Given the description of an element on the screen output the (x, y) to click on. 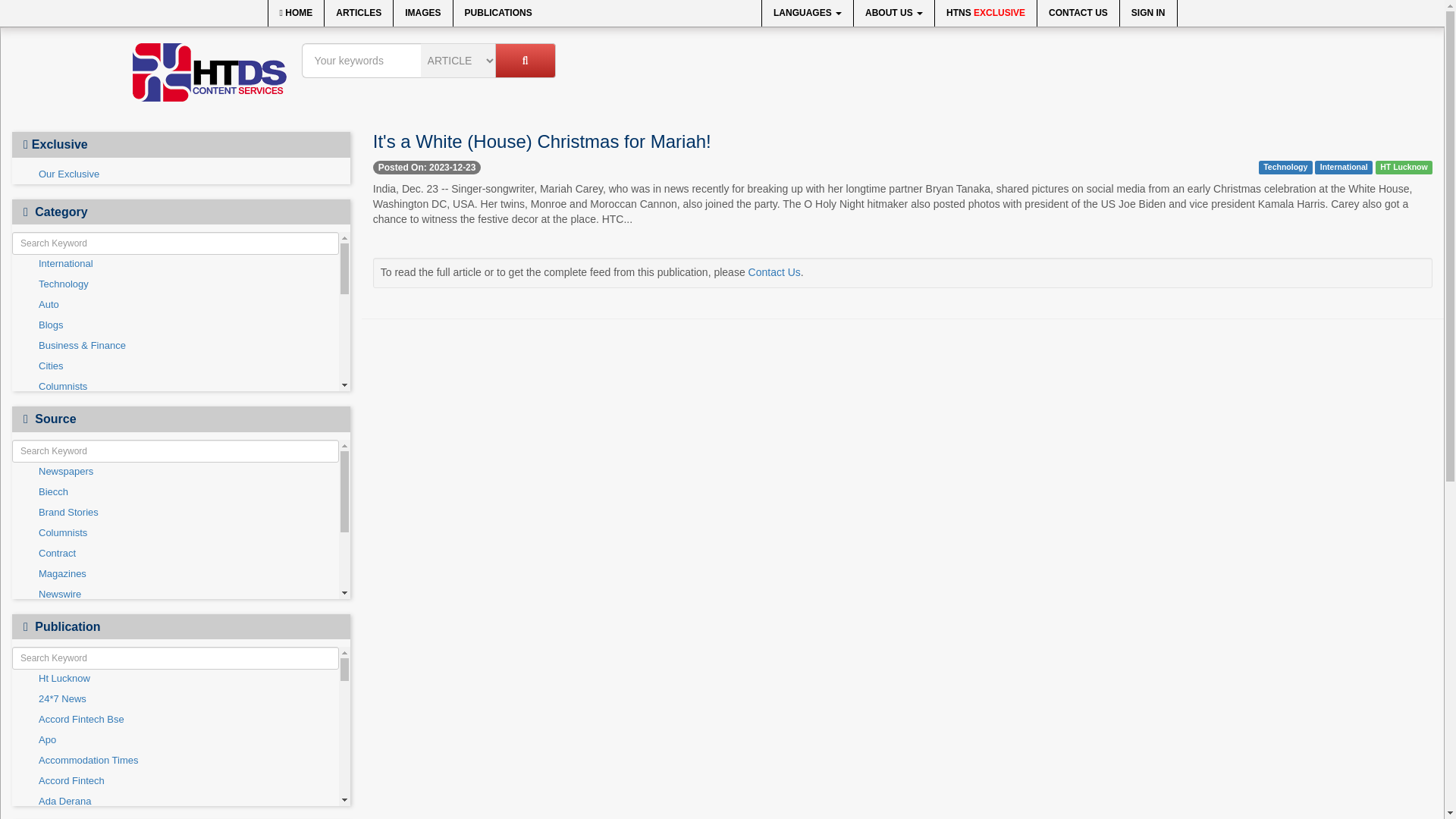
Blogs (175, 325)
Others (175, 530)
CONTACT US (1077, 13)
LANGUAGES (807, 13)
Cities (175, 366)
Columnists (175, 386)
National (175, 509)
Cities (175, 366)
Employment (175, 427)
ARTICLES (358, 13)
Sponsored (175, 611)
HTNS EXCLUSIVE (985, 13)
National (175, 509)
Columnists (175, 386)
Government News (175, 468)
